Given the description of an element on the screen output the (x, y) to click on. 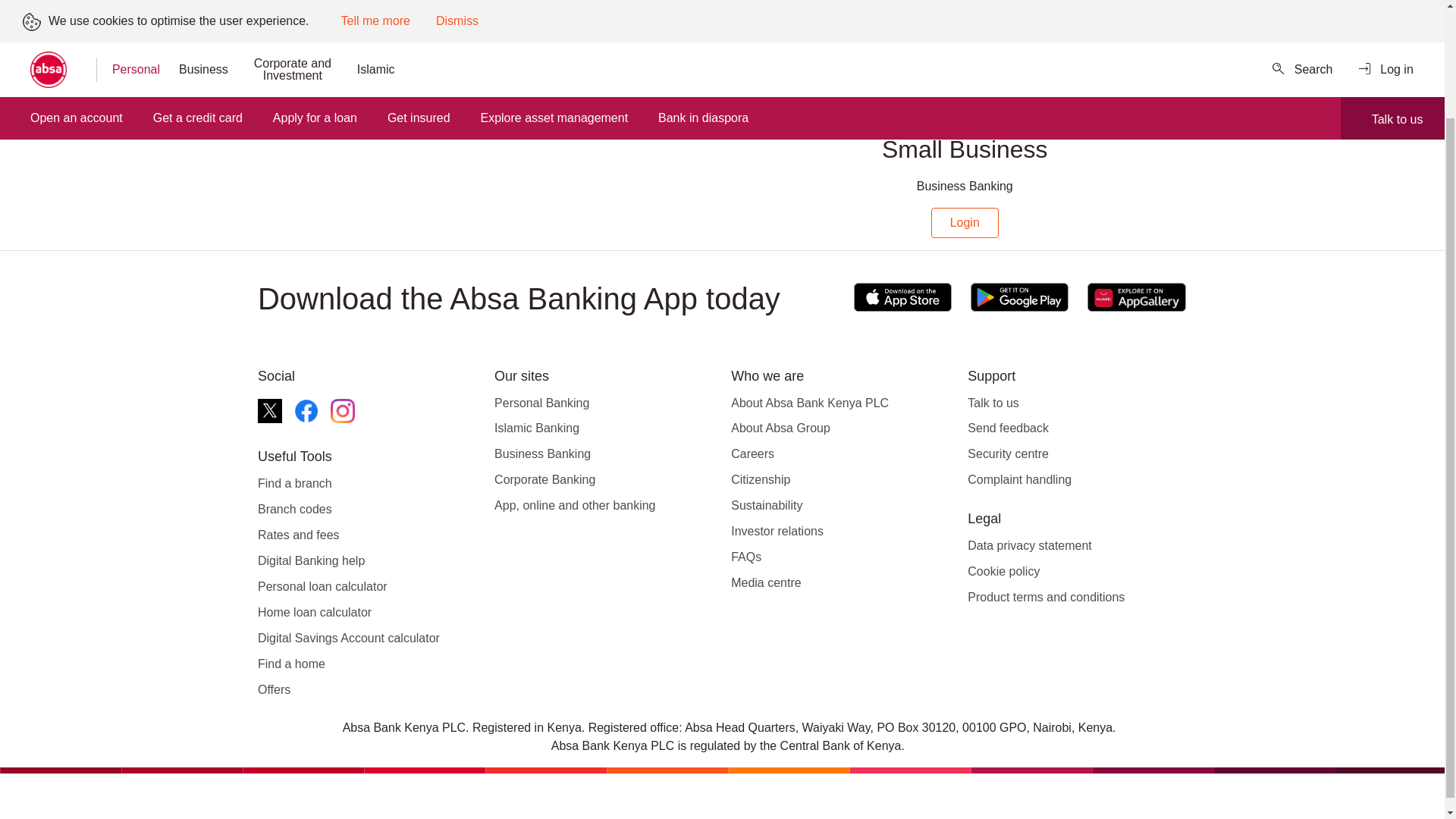
Google Play Store Link (1019, 297)
Absa facebook (306, 410)
Huawei App Gallery Link (1136, 297)
App Store Link (902, 297)
Absa twitter (269, 410)
